Given the description of an element on the screen output the (x, y) to click on. 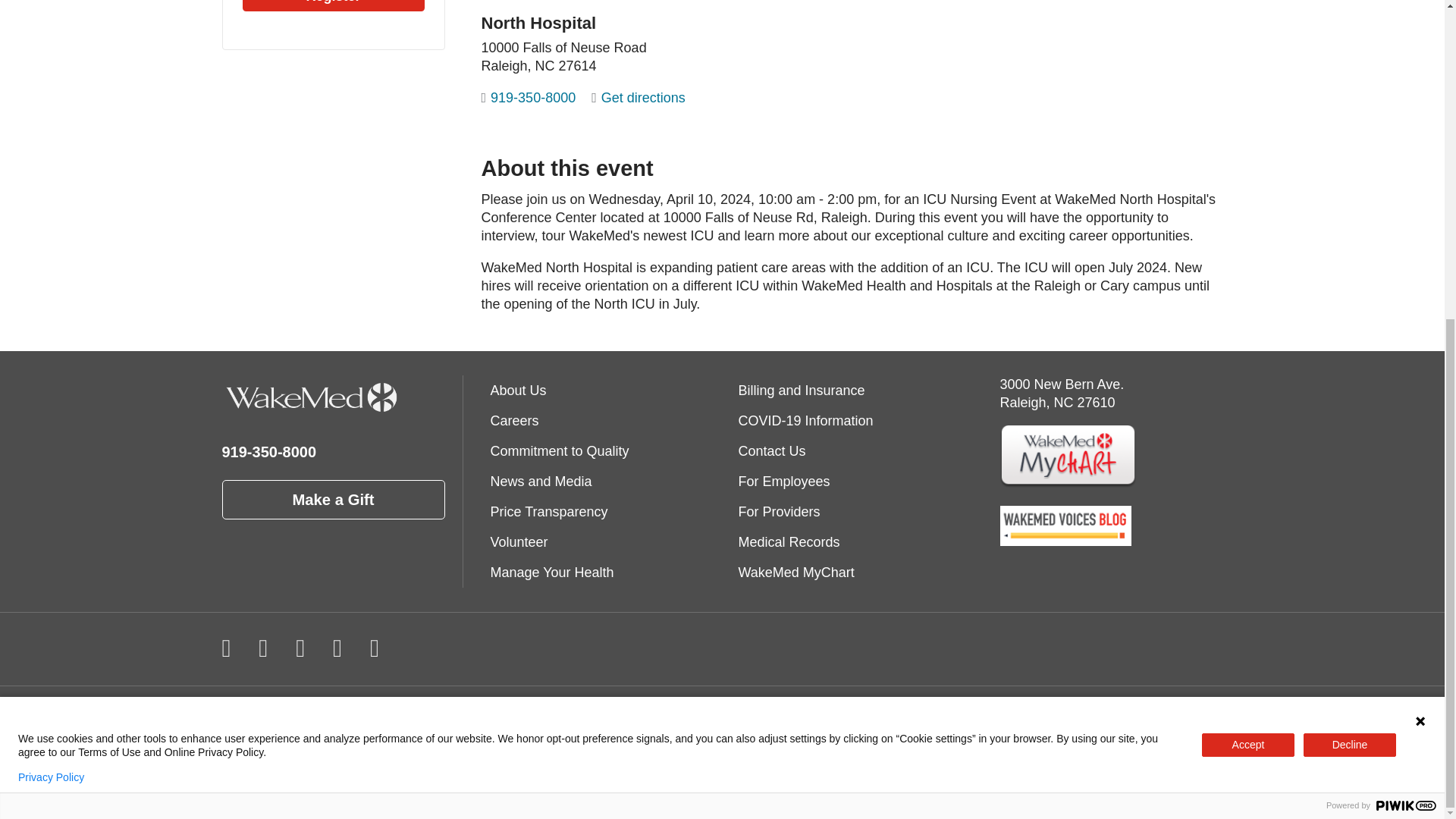
View location on Google Maps (1078, 66)
Call us at 919-350-8000 (529, 97)
